Given the description of an element on the screen output the (x, y) to click on. 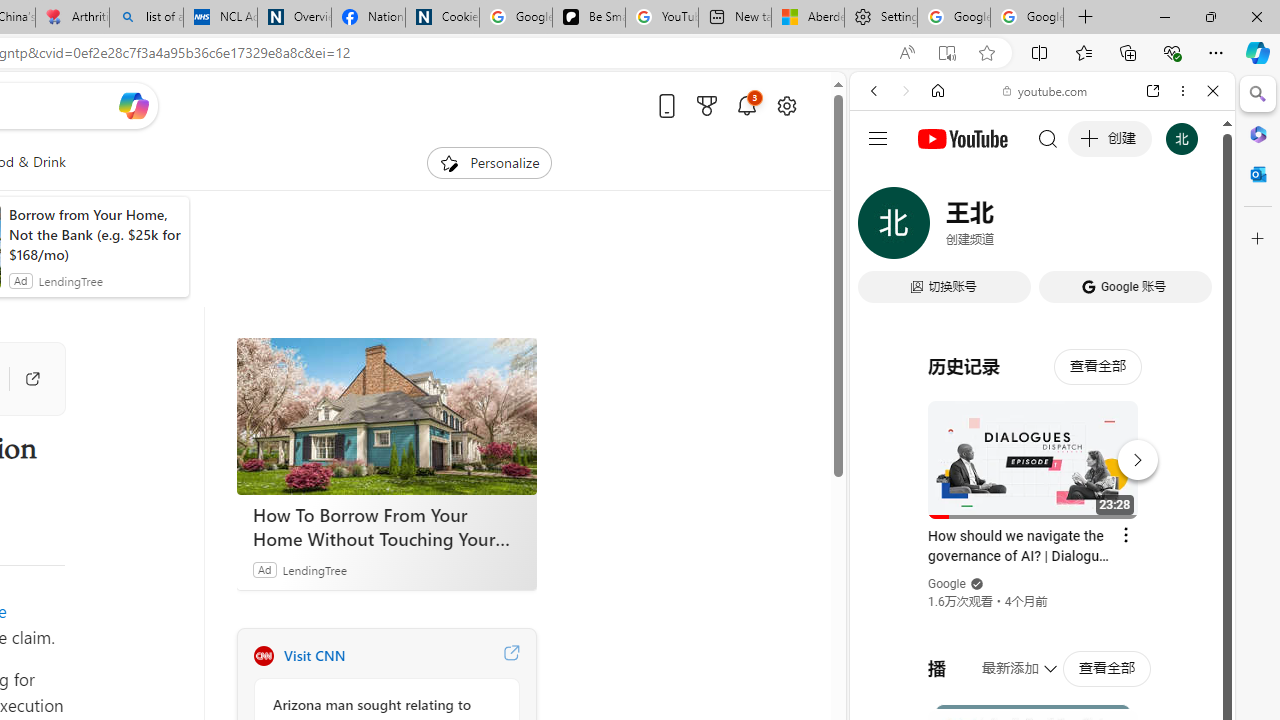
Open Copilot (132, 105)
Google (947, 584)
Music (1042, 543)
Search Filter, IMAGES (939, 228)
Search (1258, 94)
#you (1042, 445)
Cookies (441, 17)
To get missing image descriptions, open the context menu. (449, 162)
New tab (734, 17)
